Given the description of an element on the screen output the (x, y) to click on. 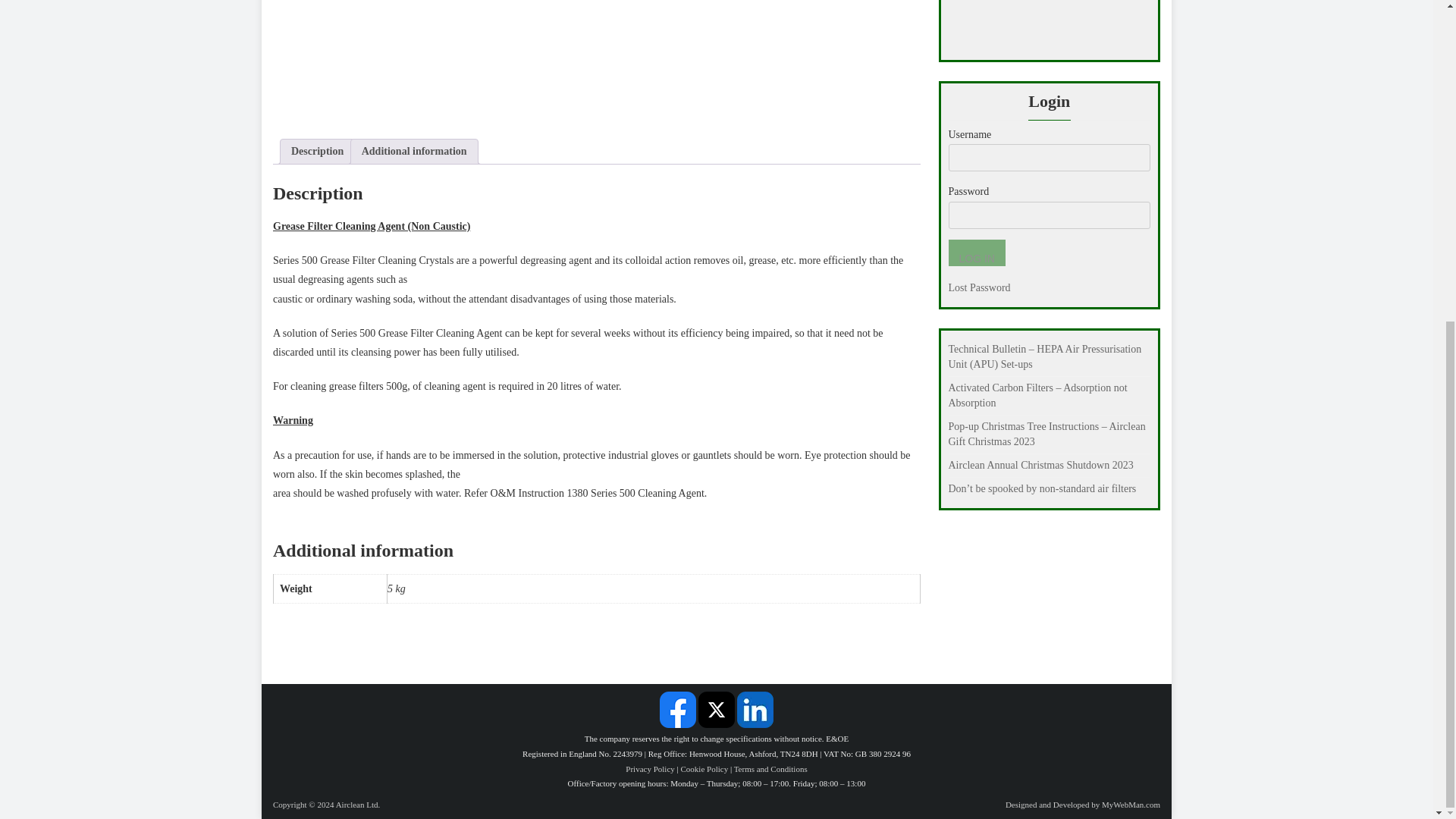
Log In (975, 252)
